Given the description of an element on the screen output the (x, y) to click on. 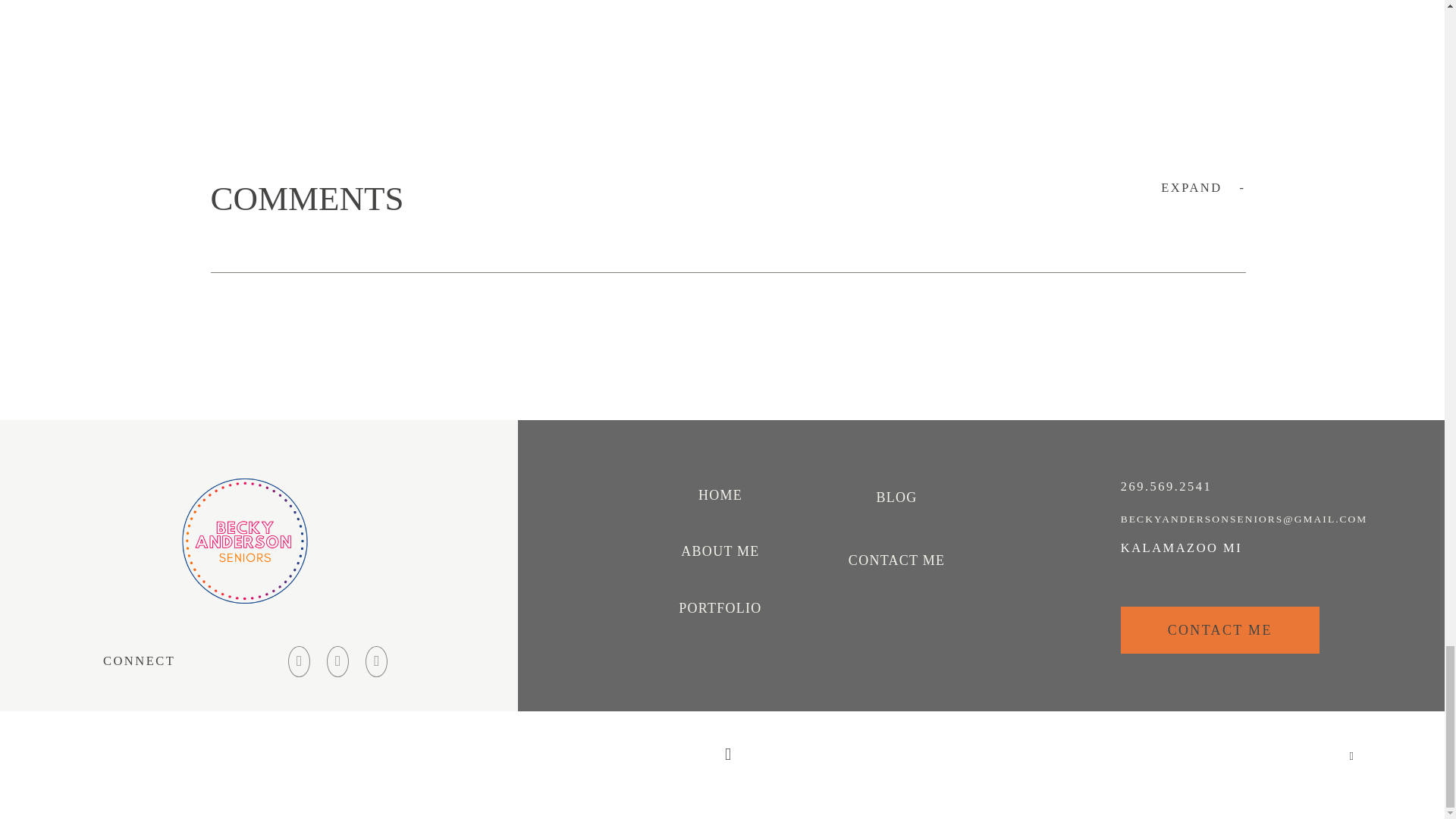
CONTACT ME (896, 560)
PORTFOLIO (719, 608)
HOME (720, 495)
BLOG (896, 498)
ABOUT ME (719, 551)
CONTACT ME (1220, 630)
